Given the description of an element on the screen output the (x, y) to click on. 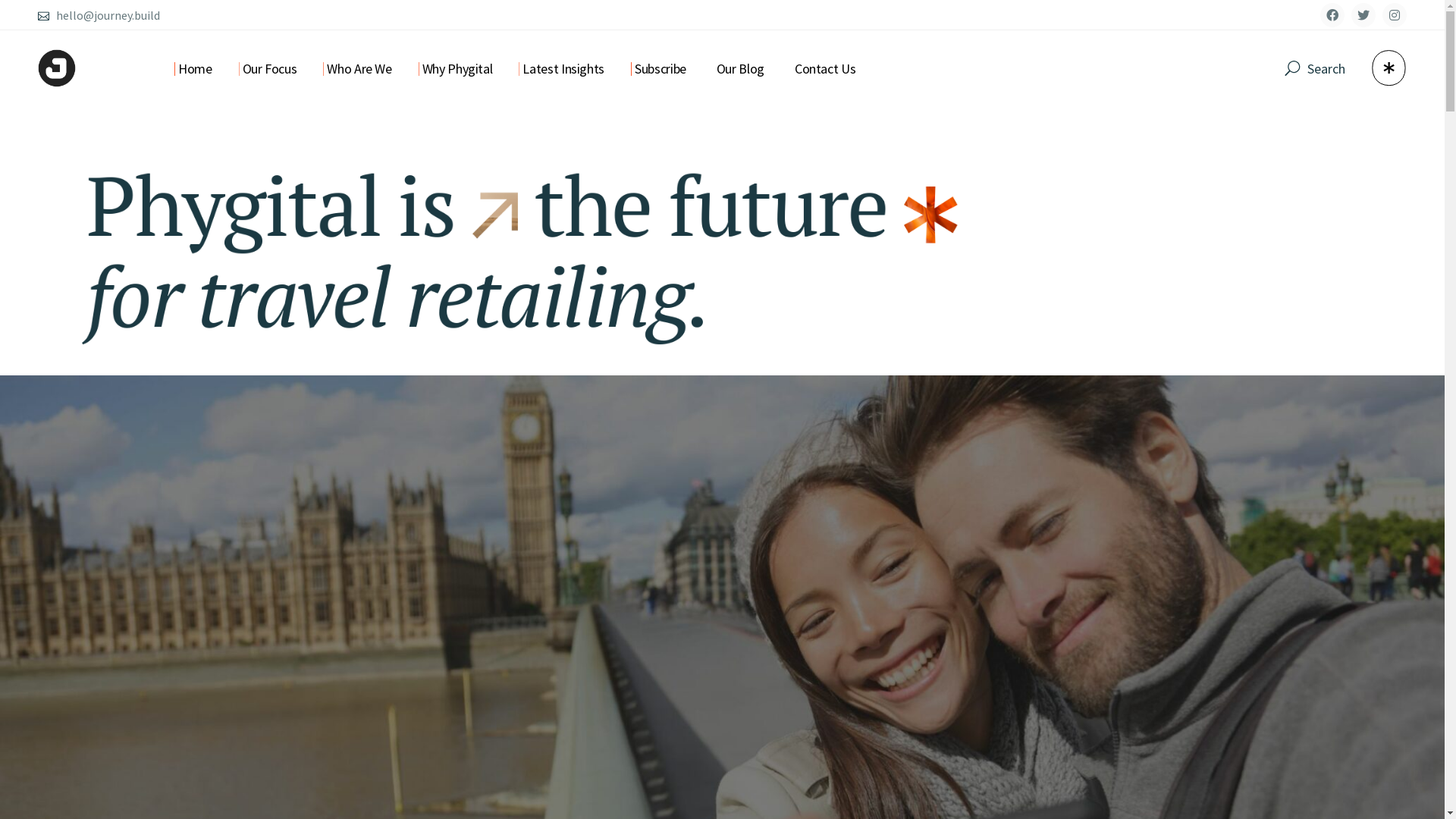
Subscribe Element type: text (660, 68)
Contact Us Element type: text (824, 68)
Home Element type: text (195, 68)
Why Phygital Element type: text (457, 68)
Our Focus Element type: text (269, 68)
Latest Insights Element type: text (563, 68)
hello@journey.build Element type: text (108, 14)
Who Are We Element type: text (358, 68)
Our Blog Element type: text (740, 68)
